Given the description of an element on the screen output the (x, y) to click on. 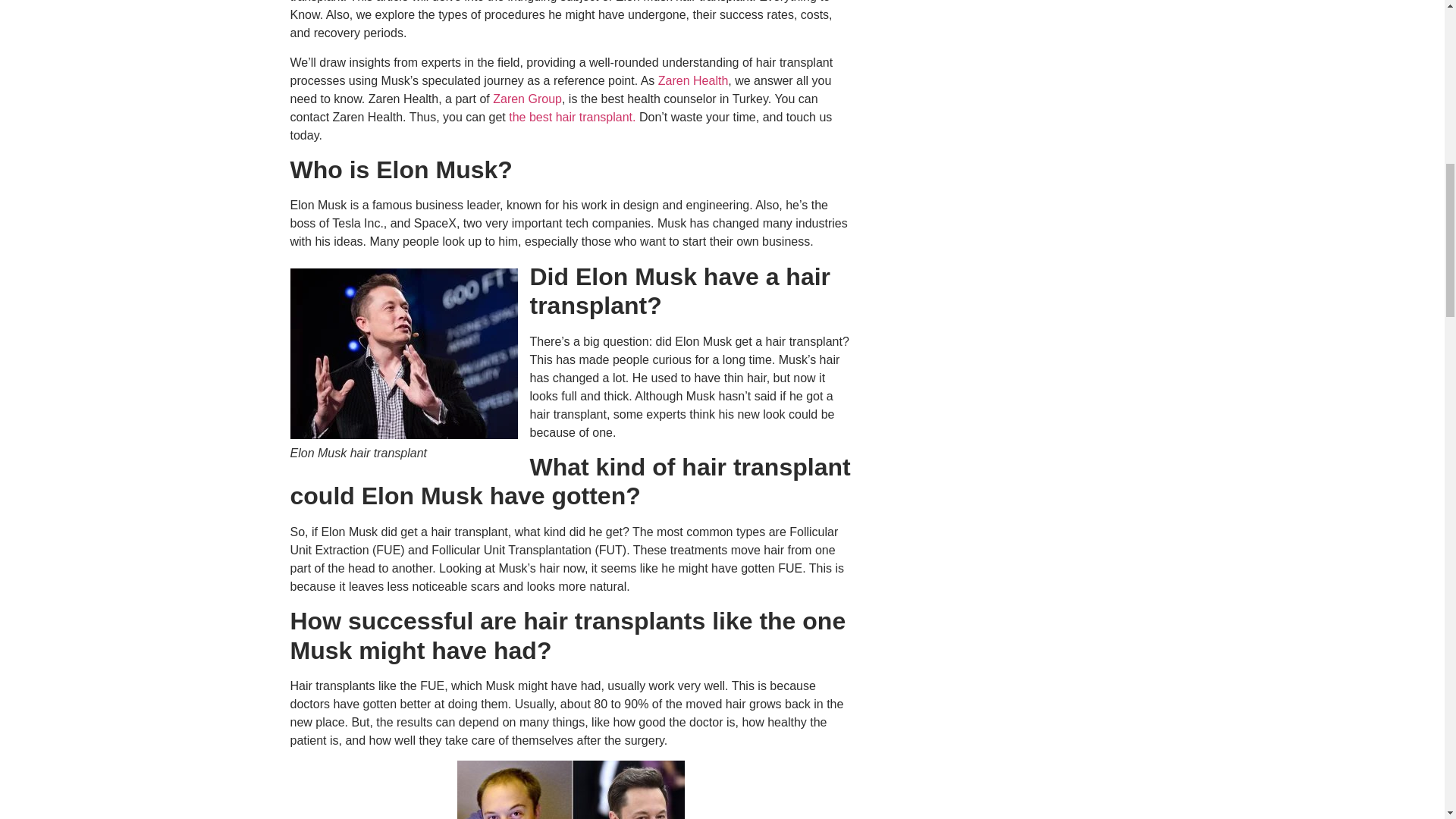
the best hair transplant. (571, 116)
Zaren Group (527, 98)
Zaren Health (690, 80)
